Given the description of an element on the screen output the (x, y) to click on. 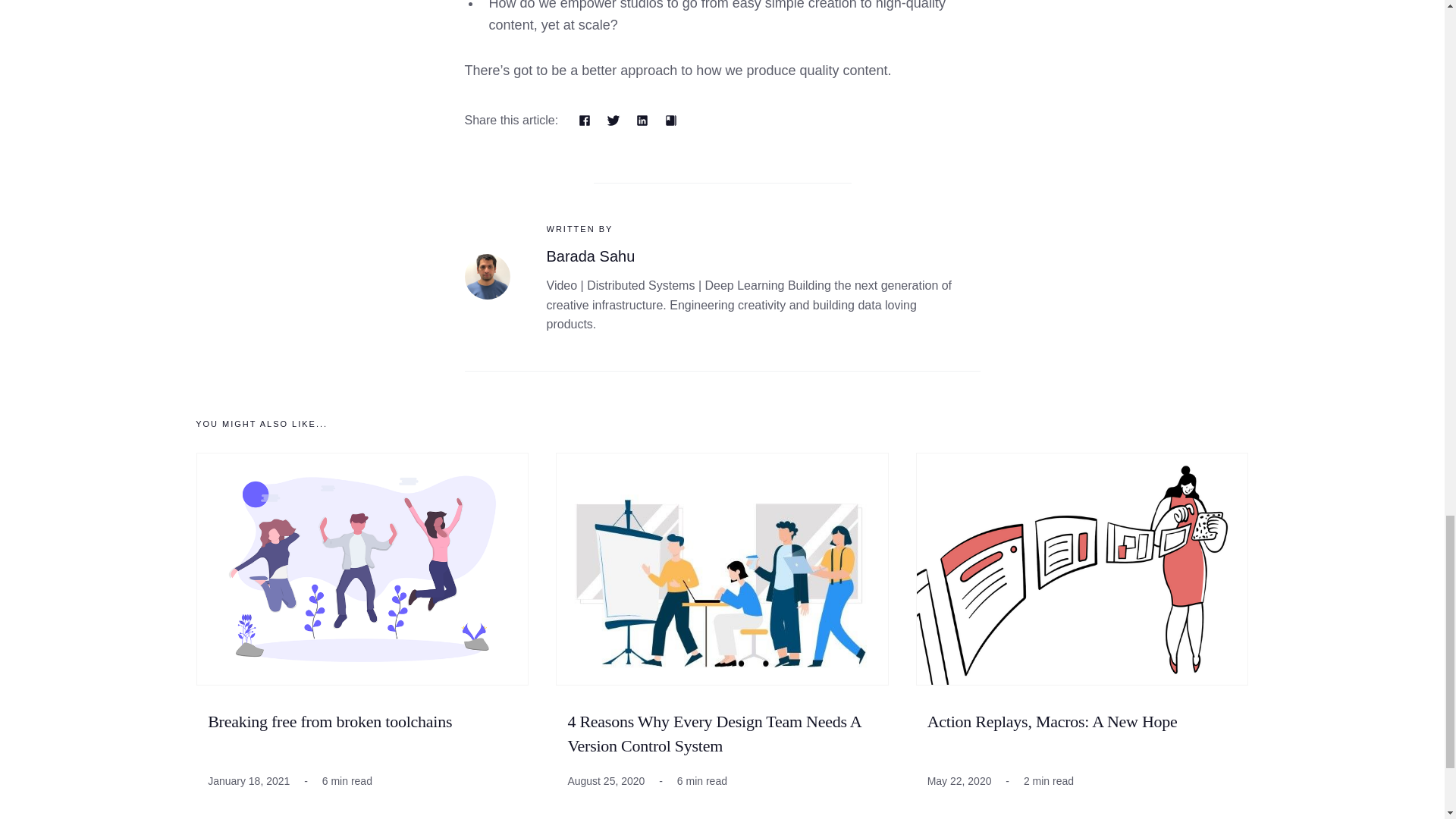
Breaking free from broken toolchains (329, 721)
Action Replays, Macros: A New Hope (1052, 721)
Barada Sahu (486, 275)
Barada Sahu (590, 255)
Barada Sahu (590, 255)
